Given the description of an element on the screen output the (x, y) to click on. 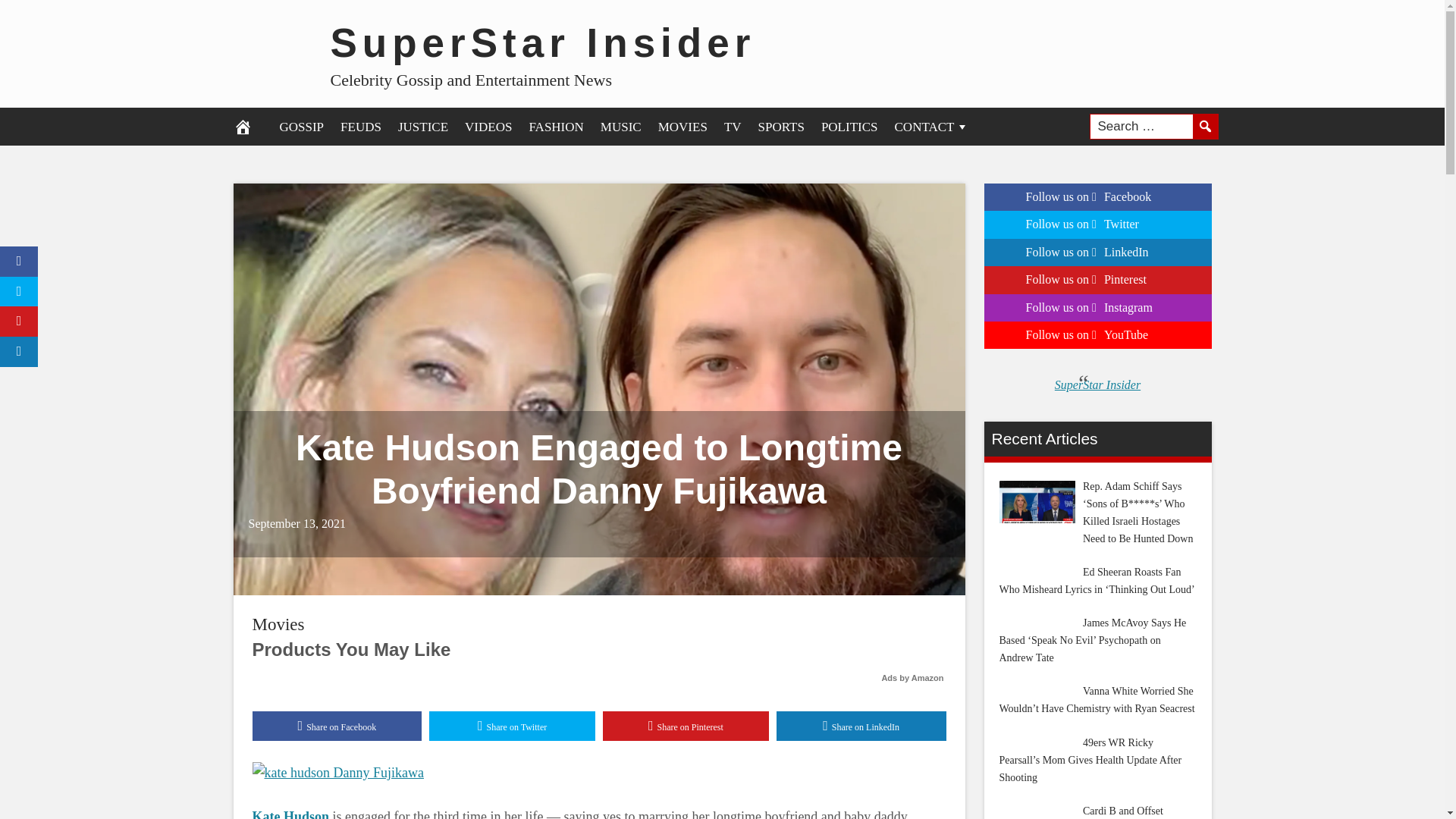
MUSIC (620, 126)
GOSSIP (301, 126)
JUSTICE (423, 126)
Movies (277, 624)
SPORTS (780, 126)
SuperStar Insider (542, 42)
FASHION (555, 126)
TV (732, 126)
FEUDS (360, 126)
MOVIES (682, 126)
